Given the description of an element on the screen output the (x, y) to click on. 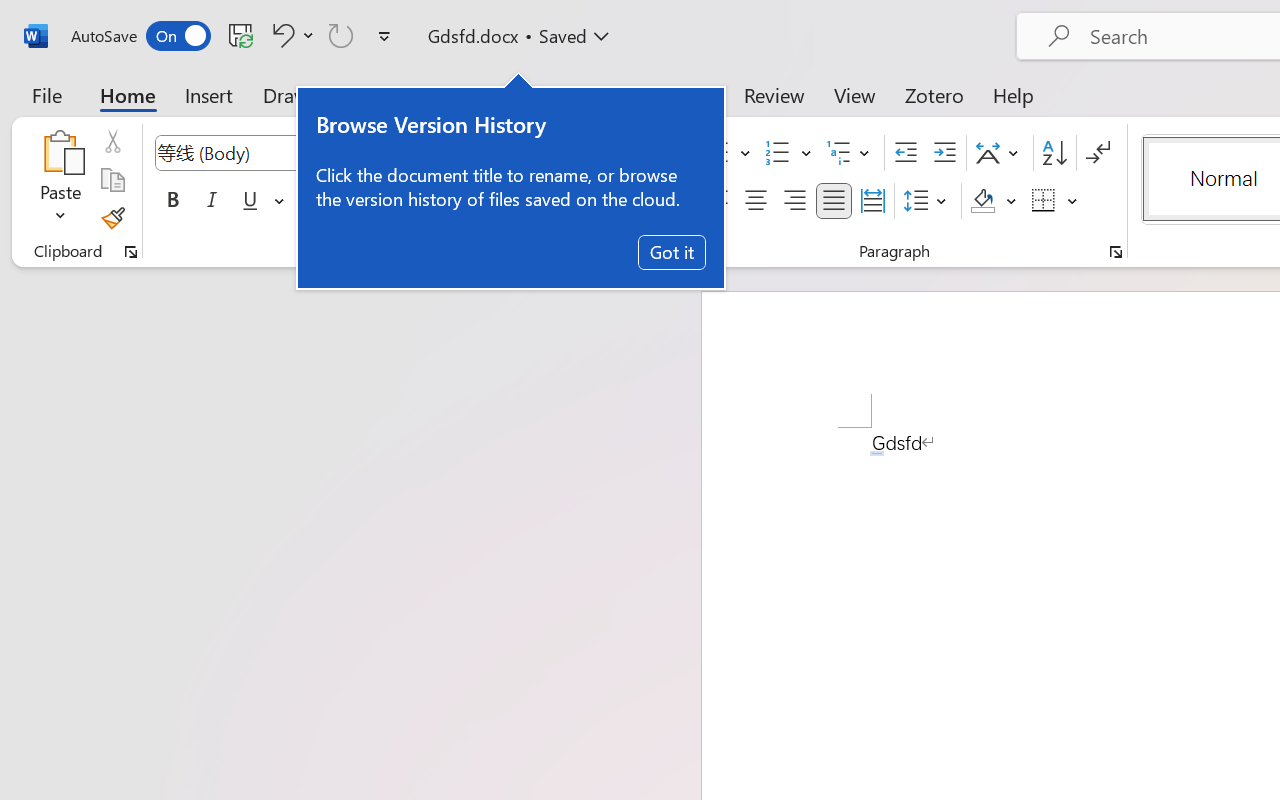
Superscript (390, 201)
Shading RGB(0, 0, 0) (982, 201)
Align Right (794, 201)
Cut (112, 141)
Format Painter (112, 218)
Can't Repeat (341, 35)
Align Left (716, 201)
Font Color (567, 201)
Character Border (656, 153)
Undo AutoCorrect (280, 35)
